Given the description of an element on the screen output the (x, y) to click on. 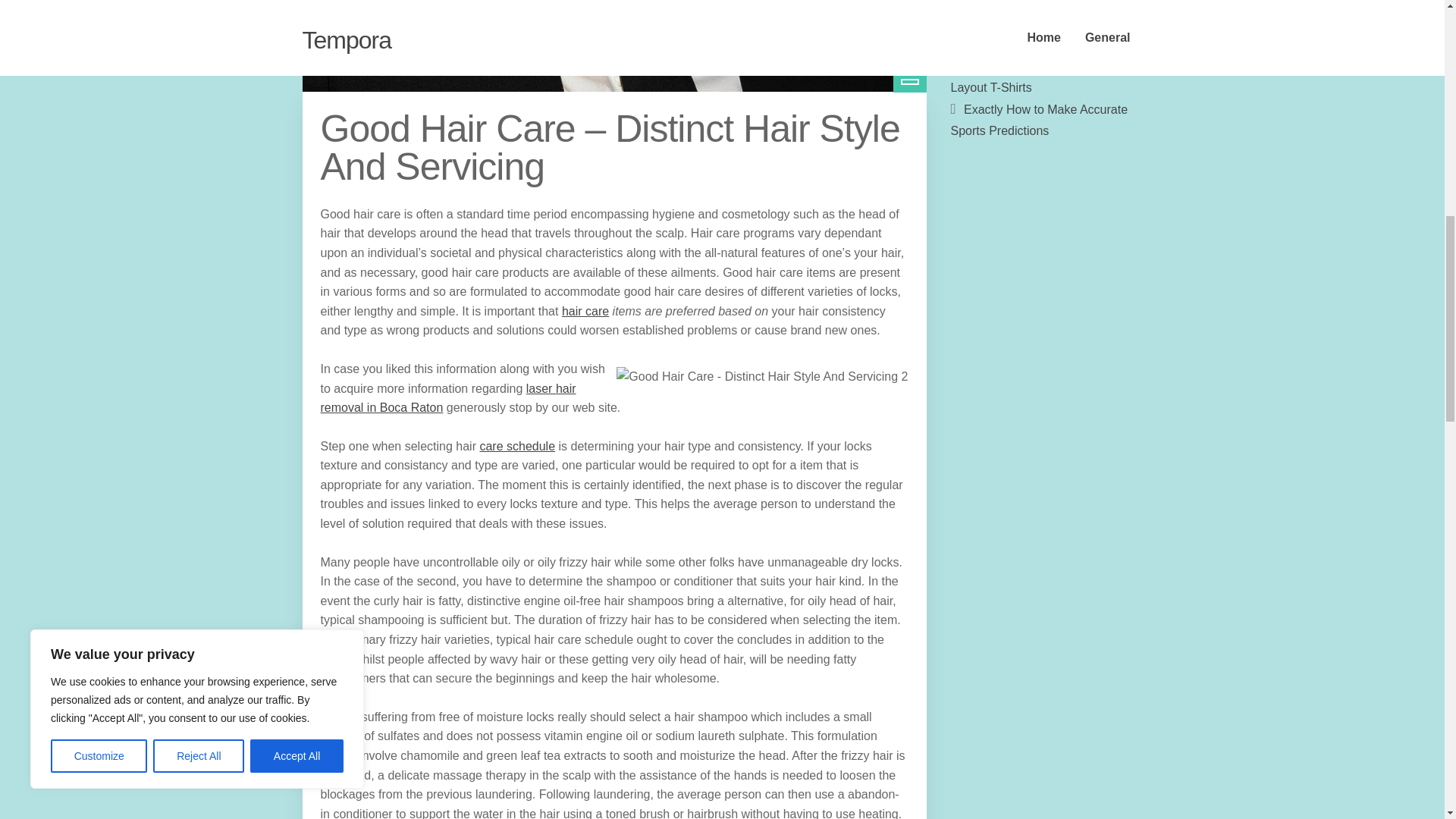
hair care (585, 310)
care schedule (516, 445)
laser hair removal in Boca Raton (447, 398)
